Given the description of an element on the screen output the (x, y) to click on. 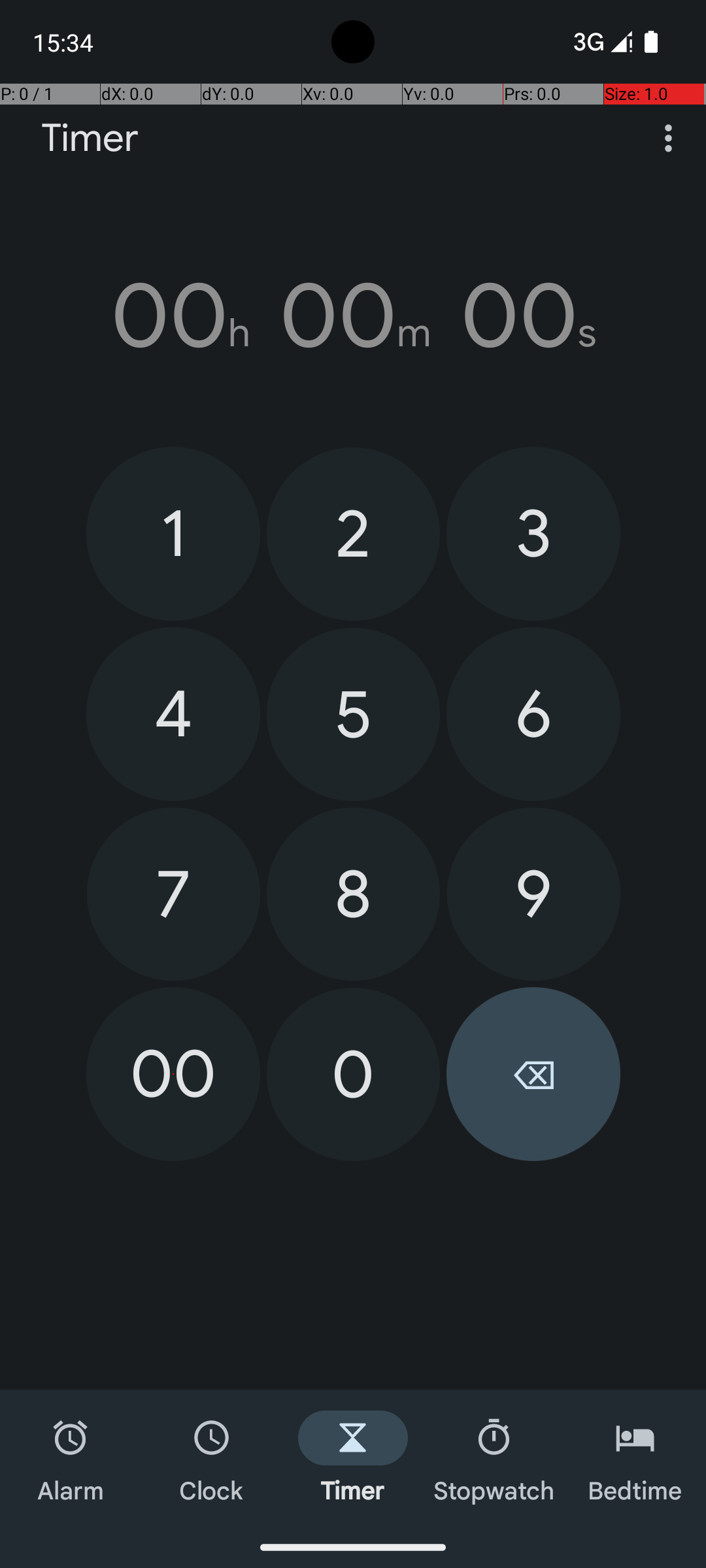
00h 00m 00s Element type: android.widget.TextView (353, 315)
